Given the description of an element on the screen output the (x, y) to click on. 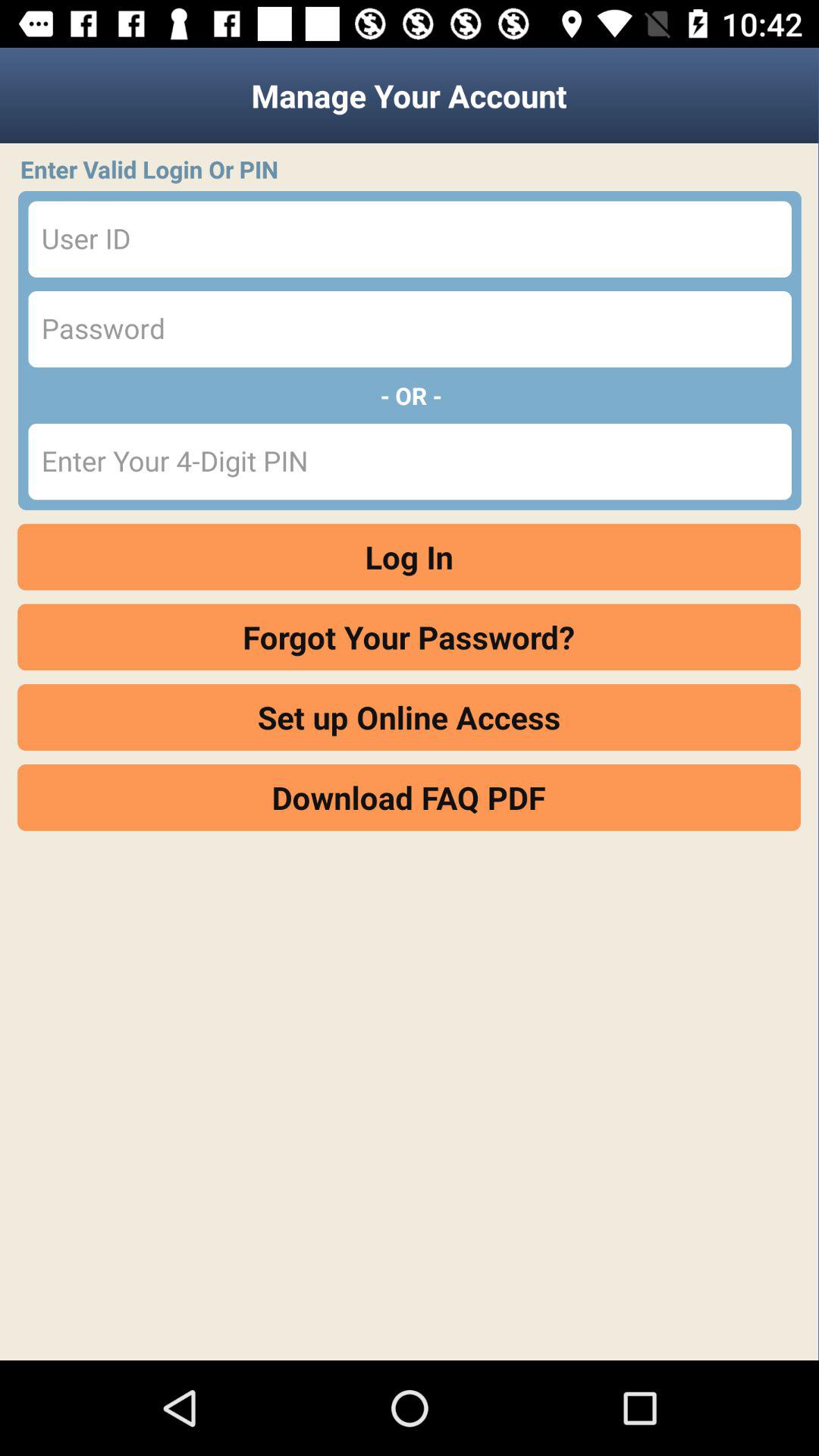
swipe until manage your account item (409, 95)
